Given the description of an element on the screen output the (x, y) to click on. 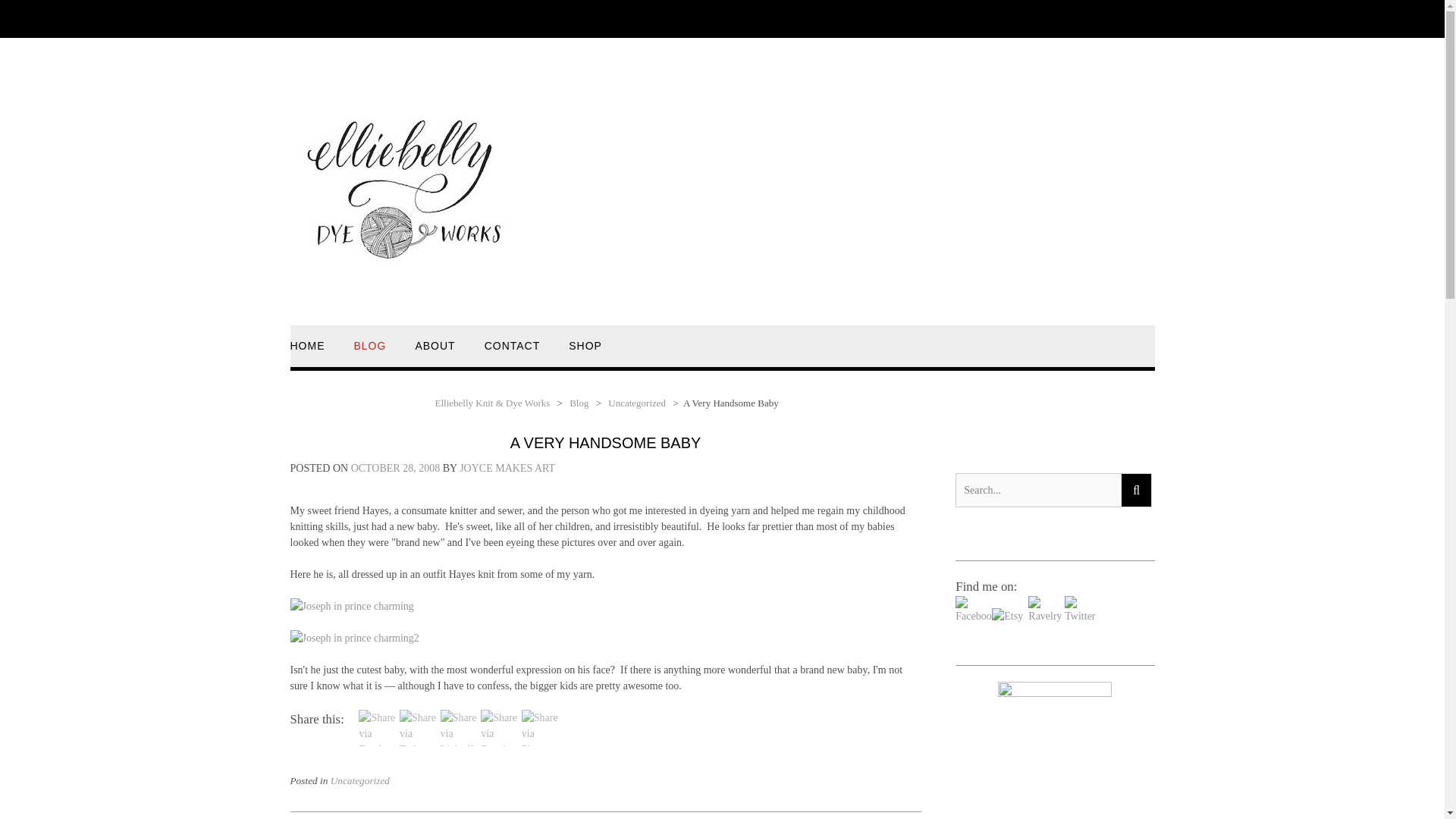
Uncategorized (360, 780)
Ravelry (1045, 615)
HOME (306, 352)
Share via Pinterest (539, 749)
Uncategorized (636, 402)
OCTOBER 28, 2008 (395, 468)
BLOG (369, 352)
Share via Twitter (416, 749)
Go to the Uncategorized Category archives. (636, 402)
ABOUT (434, 352)
